Given the description of an element on the screen output the (x, y) to click on. 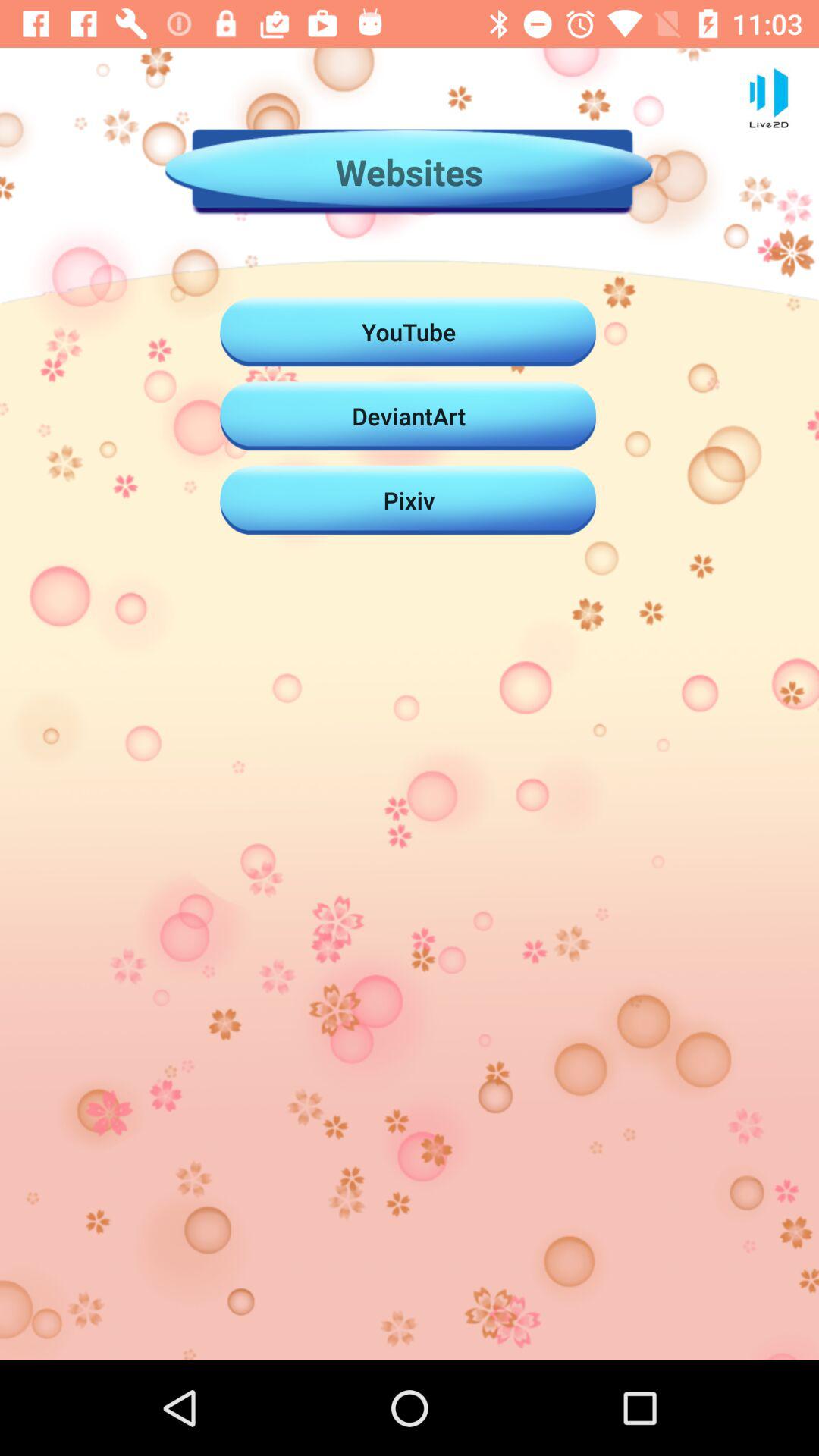
turn on the icon above deviantart icon (409, 331)
